Given the description of an element on the screen output the (x, y) to click on. 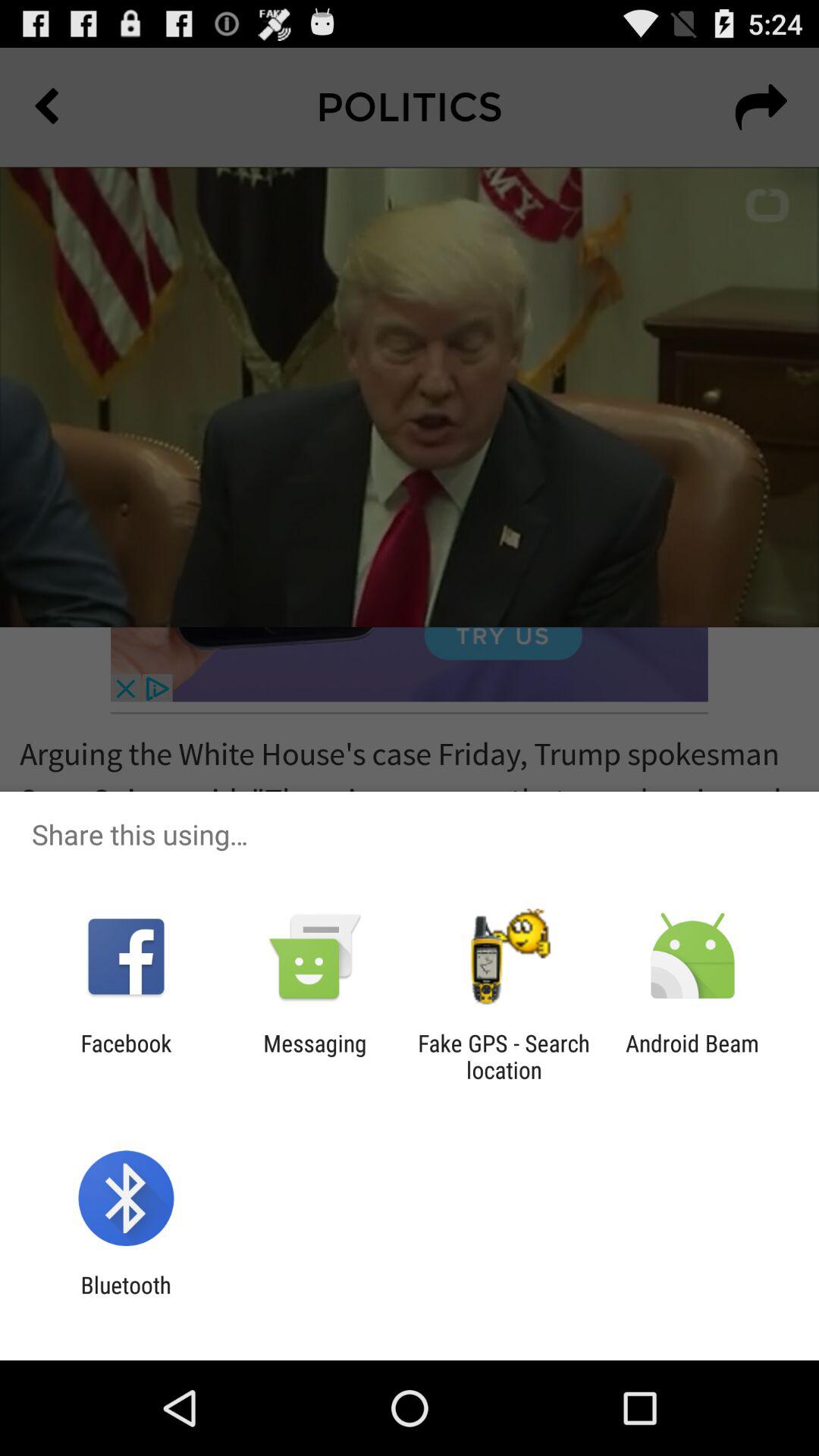
turn off app next to fake gps search app (692, 1056)
